Given the description of an element on the screen output the (x, y) to click on. 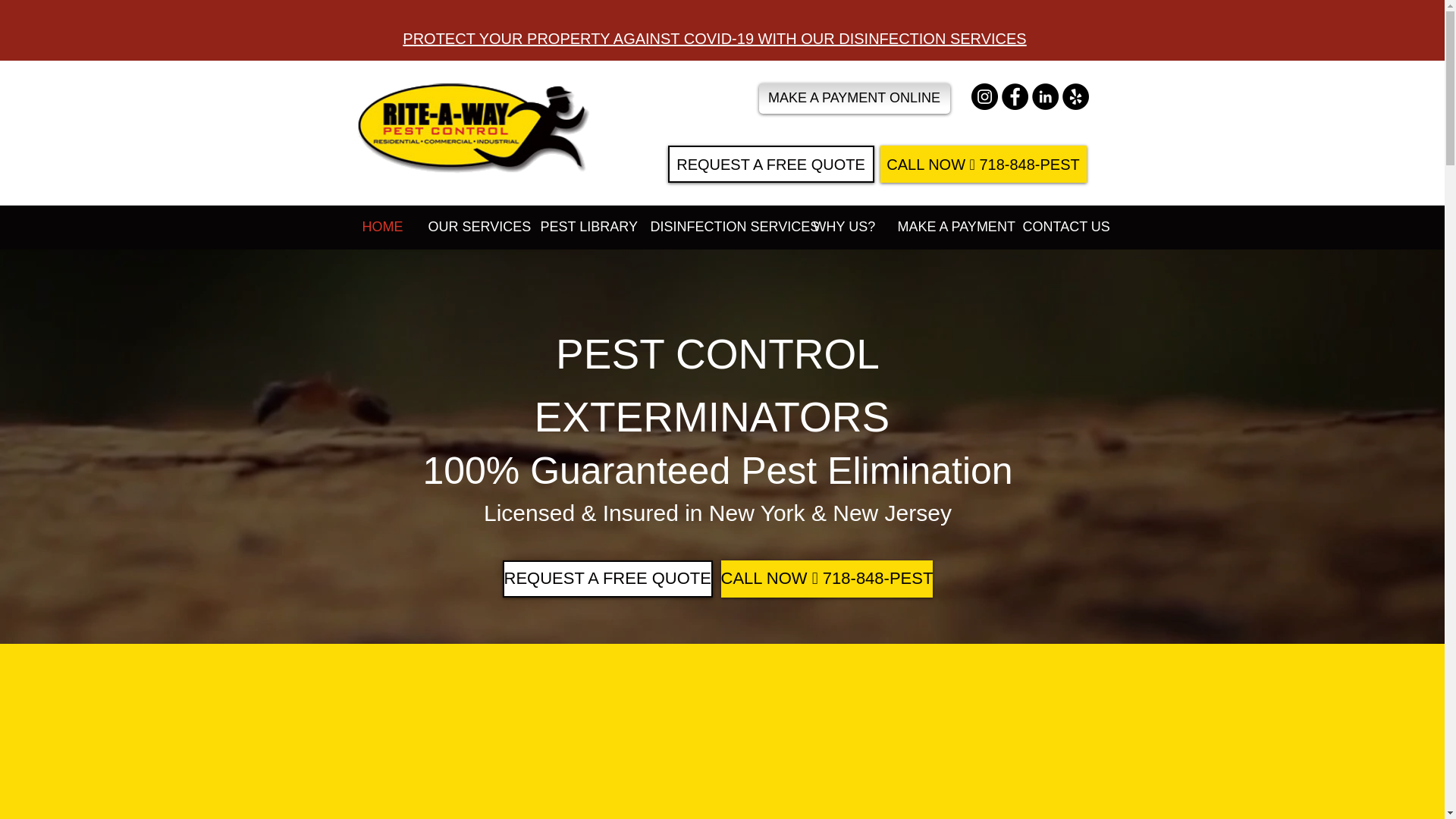
CONTACT US (1062, 226)
MAKE A PAYMENT (947, 226)
WHY US? (844, 226)
DISINFECTION SERVICES (720, 226)
HOME (383, 226)
REQUEST A FREE QUOTE (769, 163)
PEST LIBRARY (584, 226)
OUR SERVICES (472, 226)
MAKE A PAYMENT ONLINE (853, 98)
REQUEST A FREE QUOTE (606, 578)
